Given the description of an element on the screen output the (x, y) to click on. 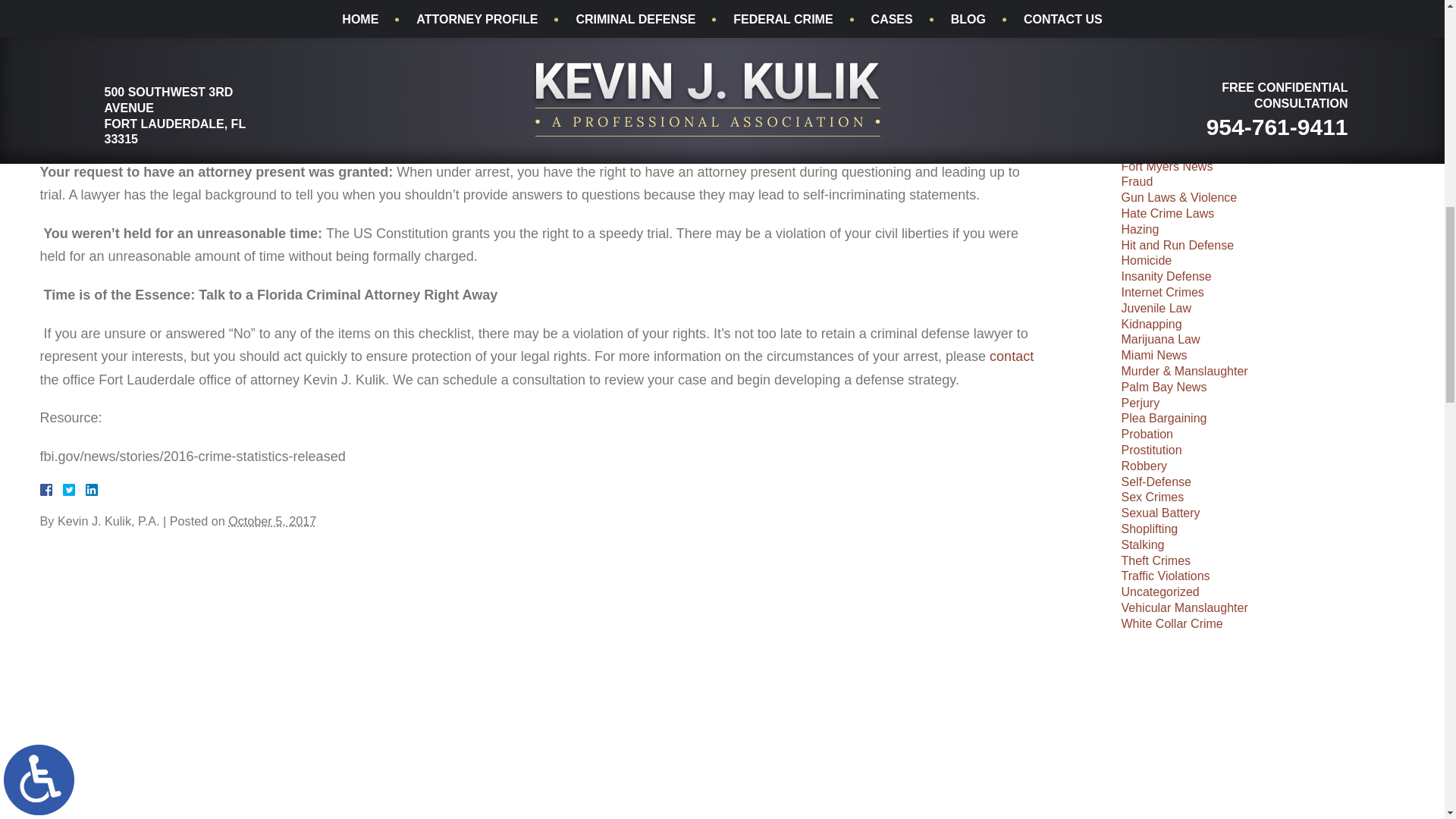
2017-10-05T15:45:09-0700 (271, 520)
LinkedIn (85, 490)
Facebook (63, 490)
Twitter (74, 490)
contact (1011, 355)
